Given the description of an element on the screen output the (x, y) to click on. 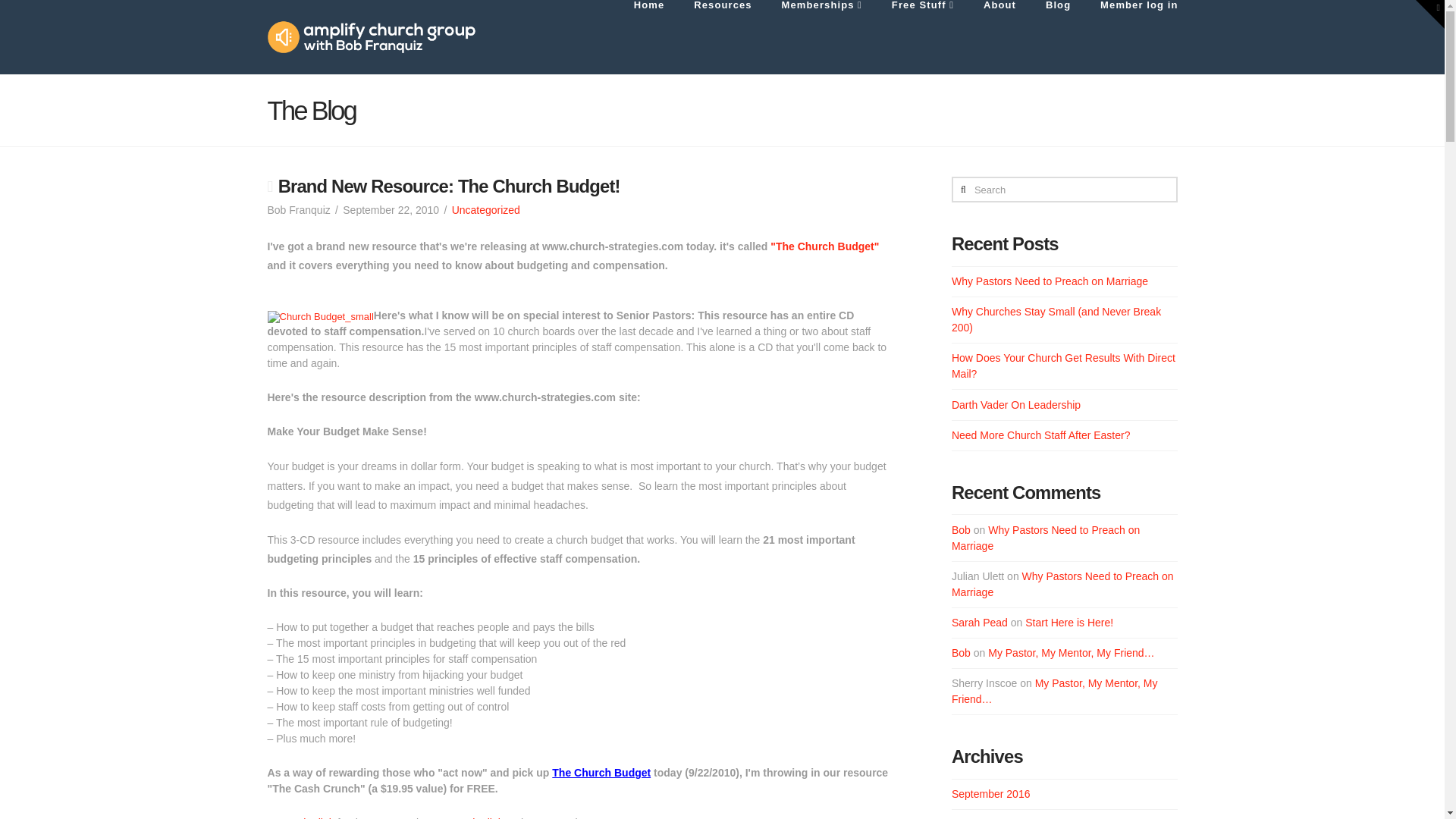
Memberships (821, 37)
Why Pastors Need to Preach on Marriage (1050, 281)
Here's the link (468, 817)
The Church Budget (600, 771)
"The Church Budget" (824, 246)
Free Stuff (922, 37)
Start Here is Here! (1069, 622)
Sarah Pead (979, 622)
About (999, 37)
Home (648, 37)
Blog (1057, 37)
How Does Your Church Get Results With Direct Mail? (1063, 366)
Bob (961, 653)
Why Pastors Need to Preach on Marriage (1046, 538)
Uncategorized (485, 209)
